Given the description of an element on the screen output the (x, y) to click on. 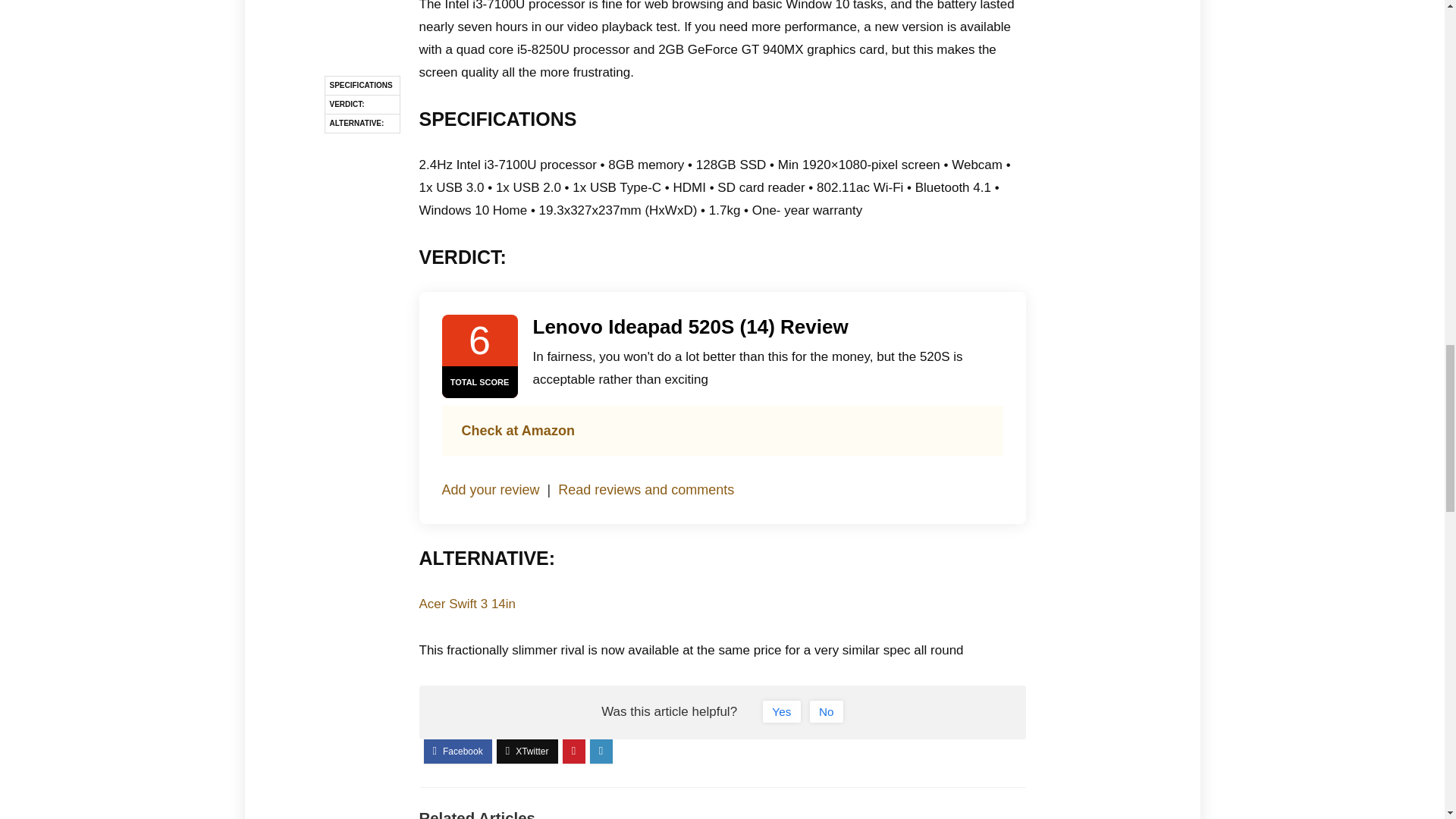
Add your review (489, 489)
Read reviews and comments (645, 489)
Check at Amazon (517, 430)
Read reviews and comments (645, 489)
Add your review (489, 489)
Acer Swift 3 14in (467, 603)
